Given the description of an element on the screen output the (x, y) to click on. 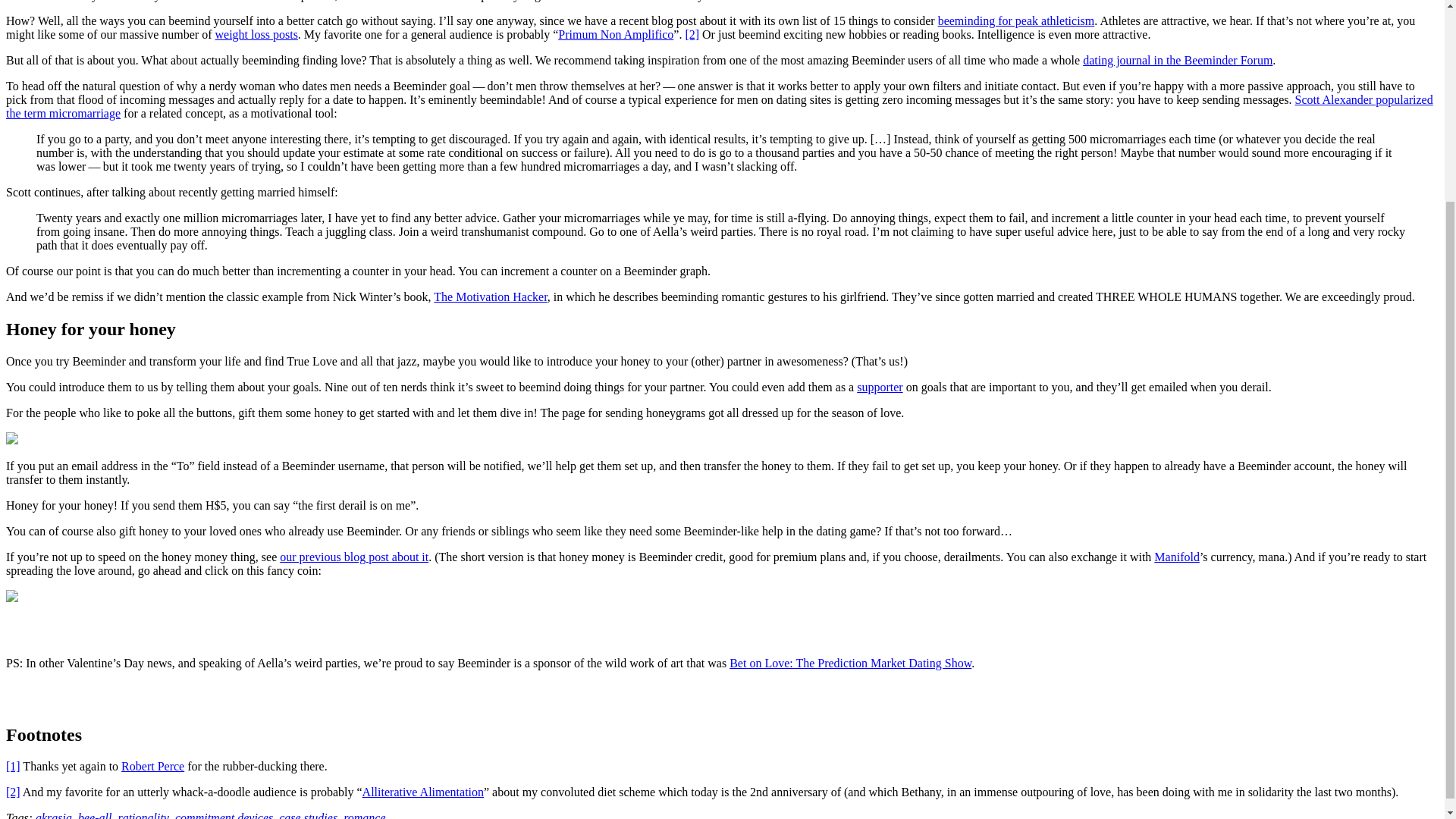
Alliterative Alimentation (422, 791)
weight loss posts (256, 33)
beeminding for peak athleticism (1015, 20)
Manifold (1176, 556)
Very old blog post introducing the Supporters feature (879, 386)
Robert Perce (152, 766)
Play-money prediction market (1176, 556)
